Given the description of an element on the screen output the (x, y) to click on. 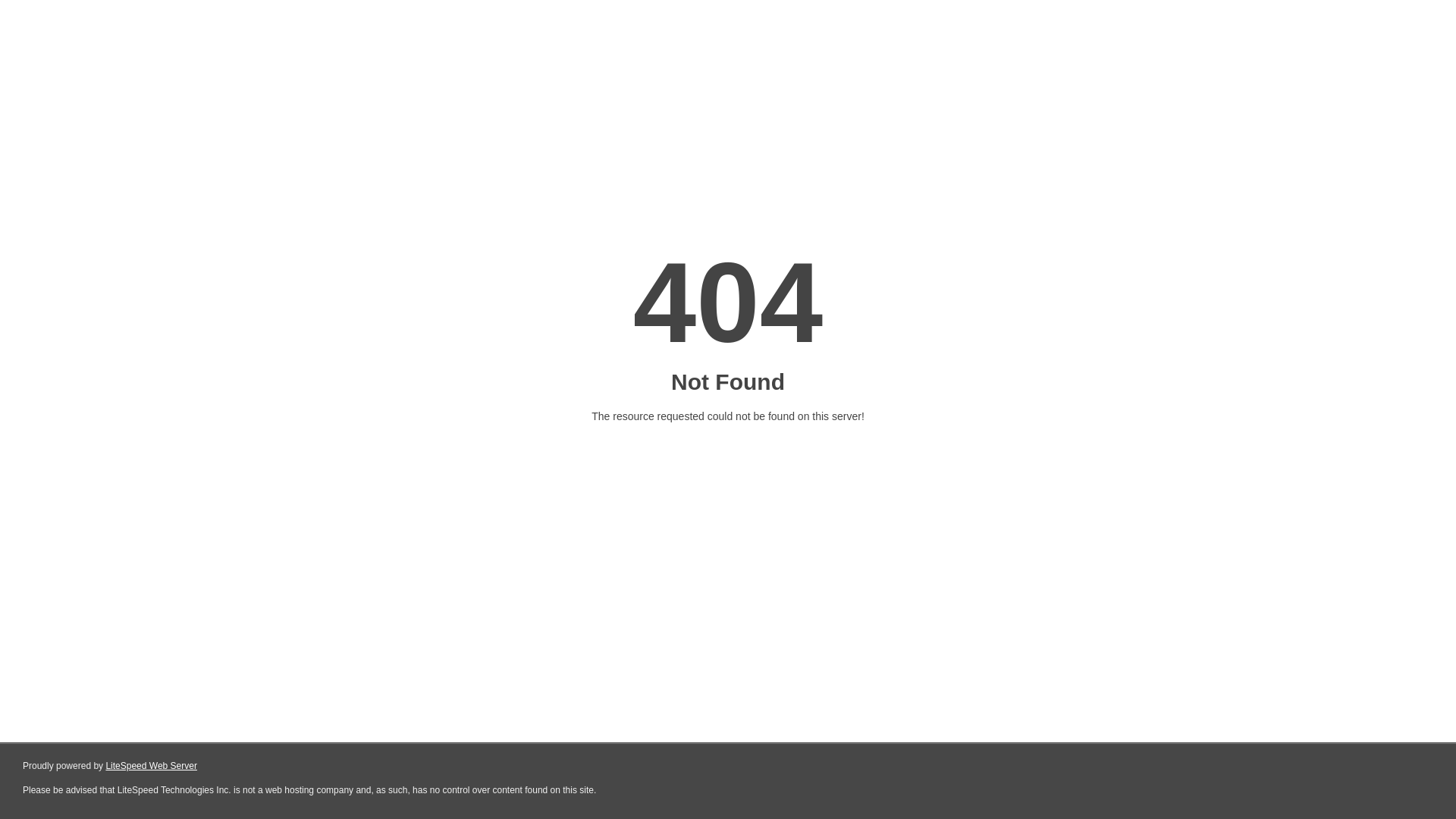
LiteSpeed Web Server Element type: text (151, 765)
